Given the description of an element on the screen output the (x, y) to click on. 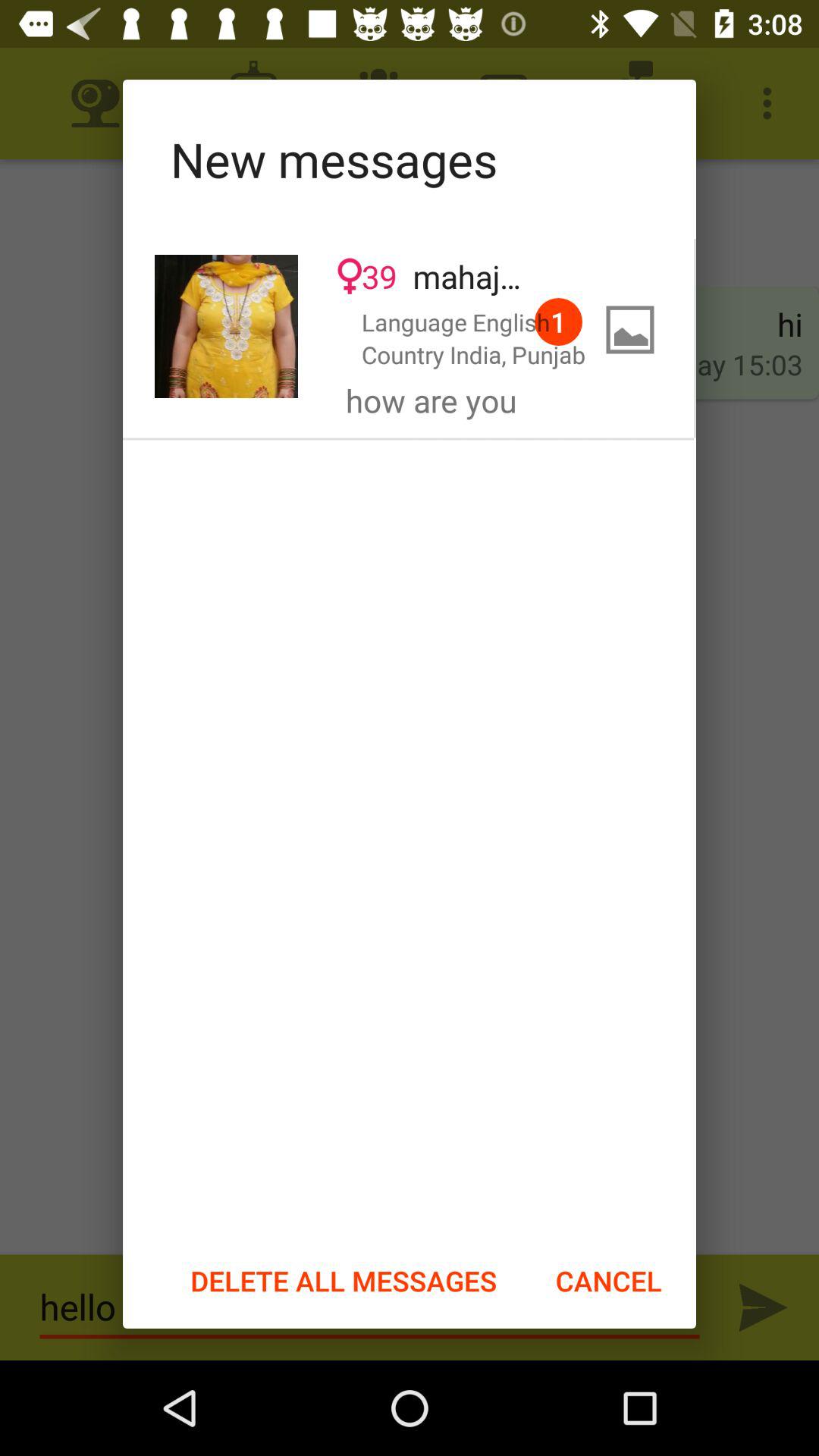
tap to view profile picture (226, 326)
